Given the description of an element on the screen output the (x, y) to click on. 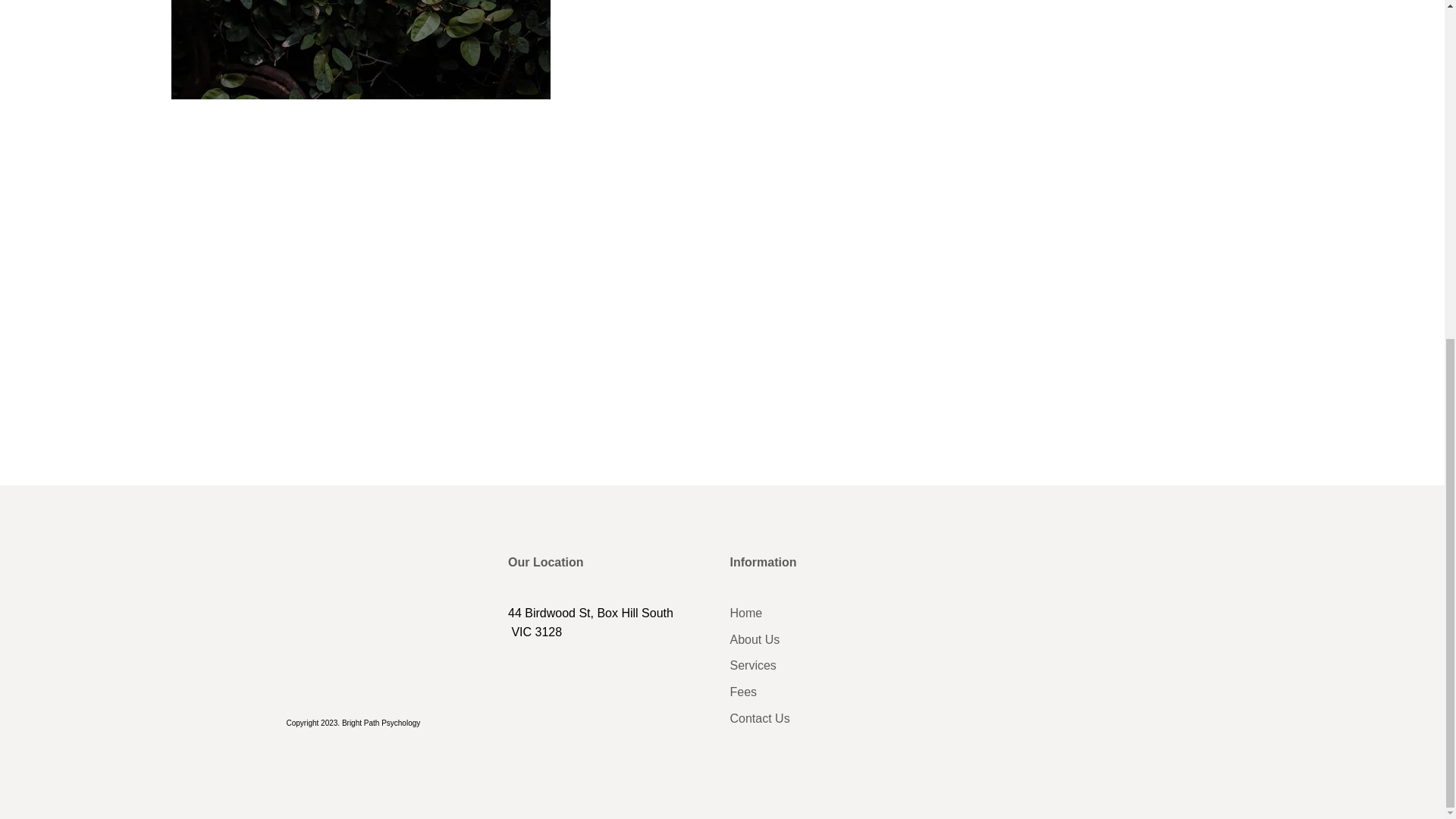
About Us (832, 67)
Fees (832, 120)
Contact Us (832, 147)
Home (832, 40)
Services (832, 94)
